Given the description of an element on the screen output the (x, y) to click on. 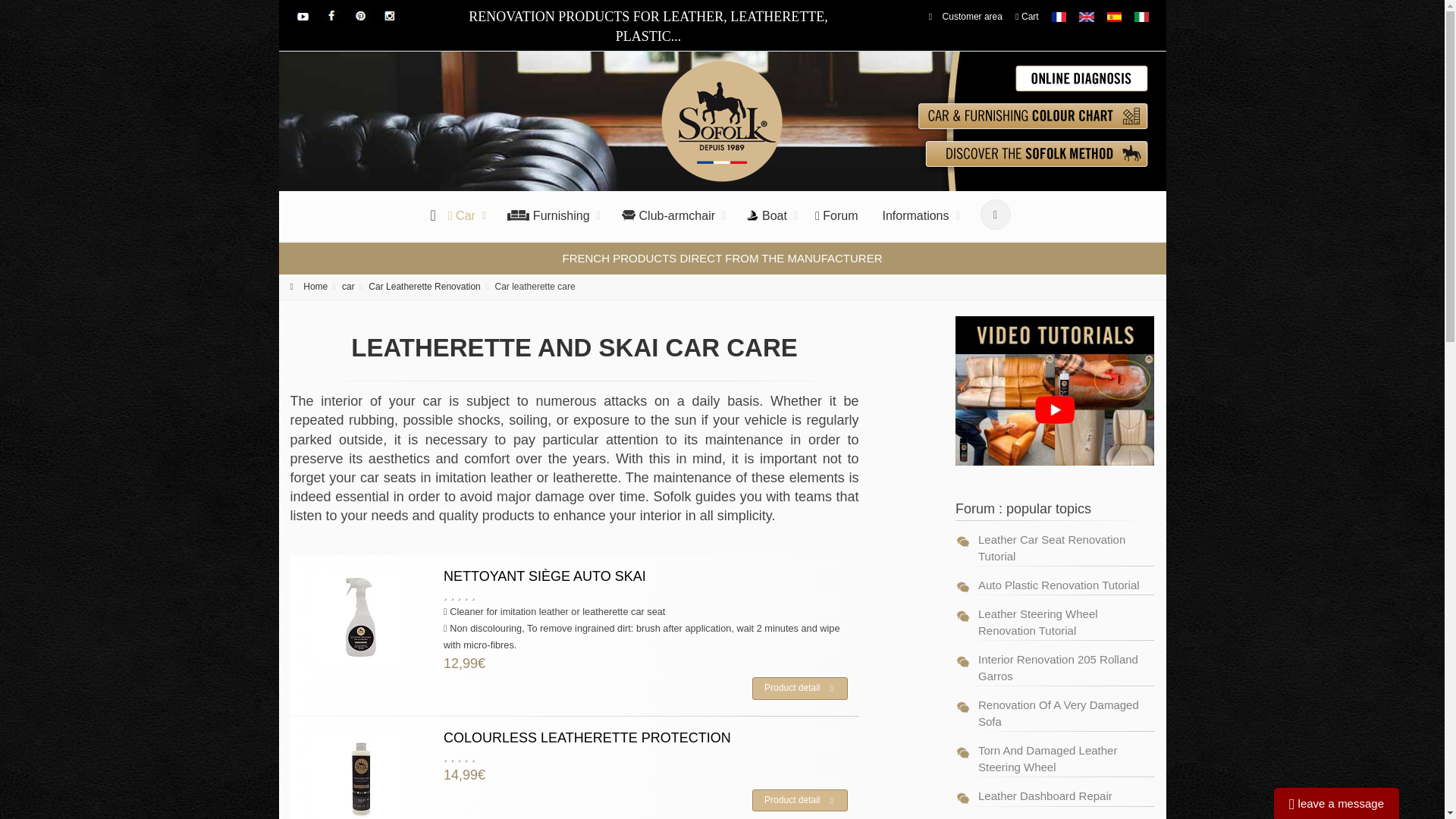
Furnishing (548, 215)
Car (463, 215)
